Given the description of an element on the screen output the (x, y) to click on. 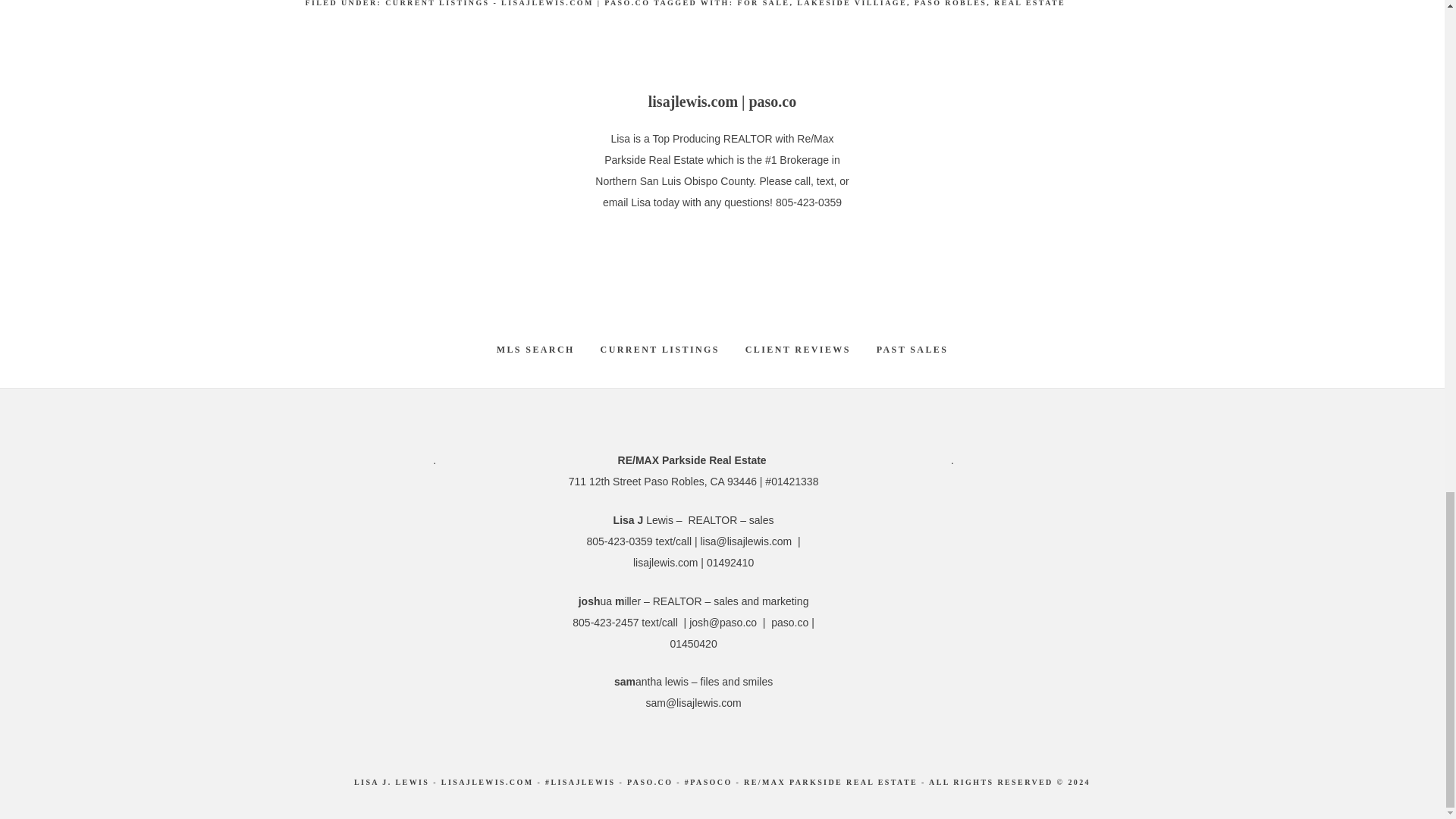
PAST SALES (911, 350)
MLS SEARCH (535, 350)
paso.co (789, 622)
CURRENT LISTINGS (659, 350)
FOR SALE (762, 3)
REAL ESTATE (1029, 3)
CLIENT REVIEWS (797, 350)
PASO ROBLES (950, 3)
LAKESIDE VILLIAGE (851, 3)
lisajlewis.com (665, 562)
